Given the description of an element on the screen output the (x, y) to click on. 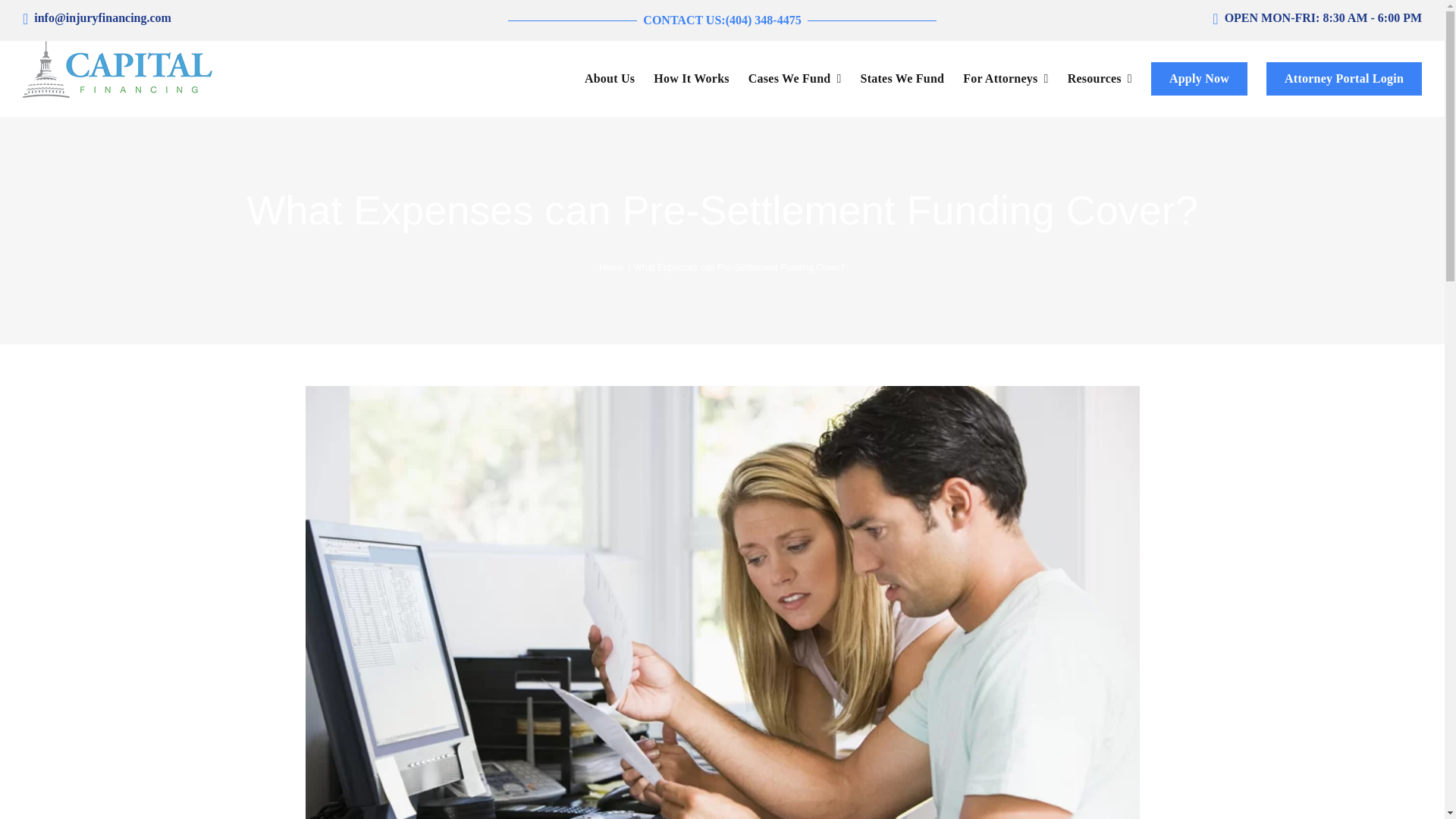
About Us (600, 78)
Apply Now (1189, 78)
States We Fund (892, 78)
Cases We Fund (785, 78)
How It Works (681, 78)
Resources (1090, 78)
Attorney Portal Login (1334, 78)
For Attorneys (995, 78)
Home (610, 267)
